Given the description of an element on the screen output the (x, y) to click on. 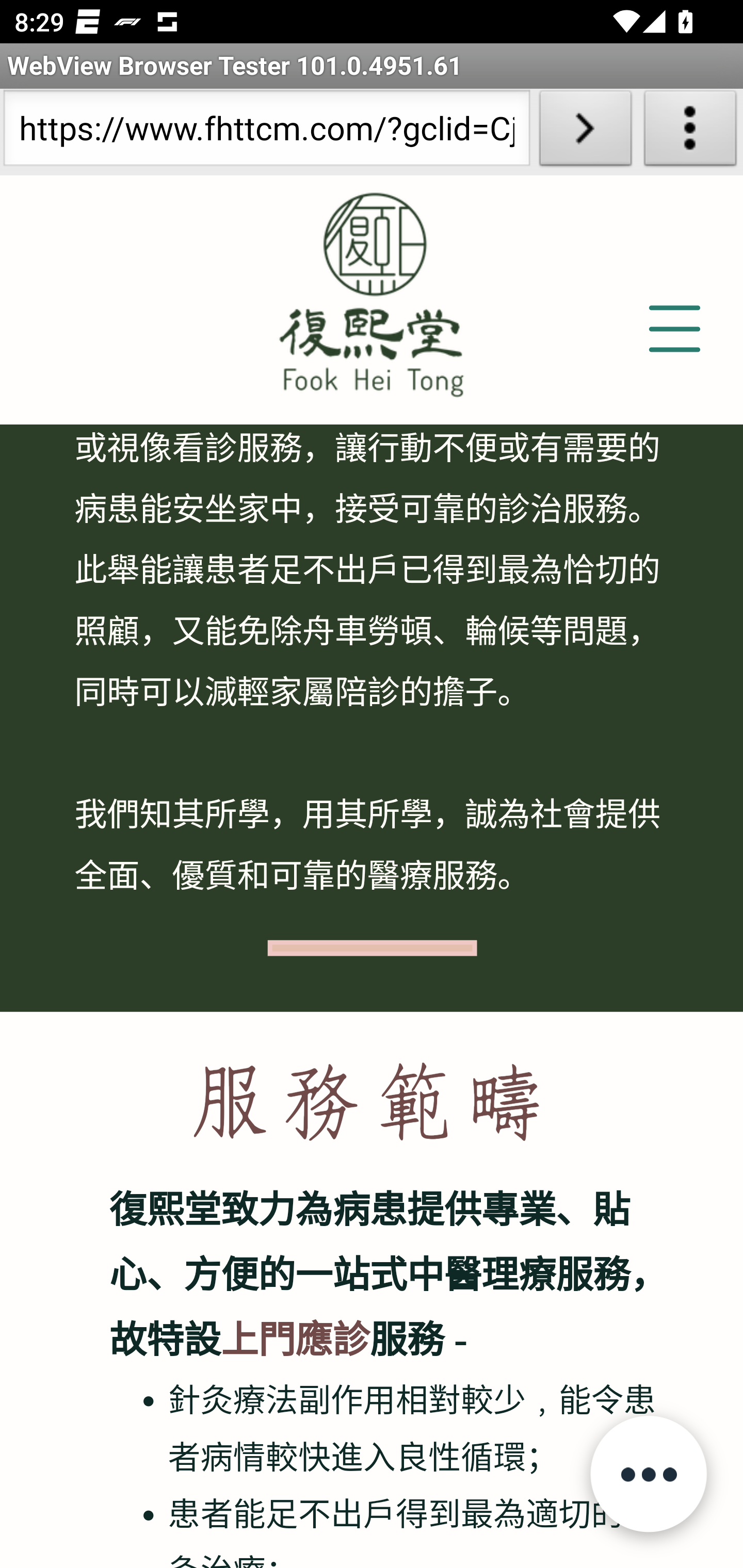
Load URL (585, 132)
About WebView (690, 132)
復熙堂 (371, 288)
Open navigation menu (673, 329)
快速操作 (647, 1475)
